Given the description of an element on the screen output the (x, y) to click on. 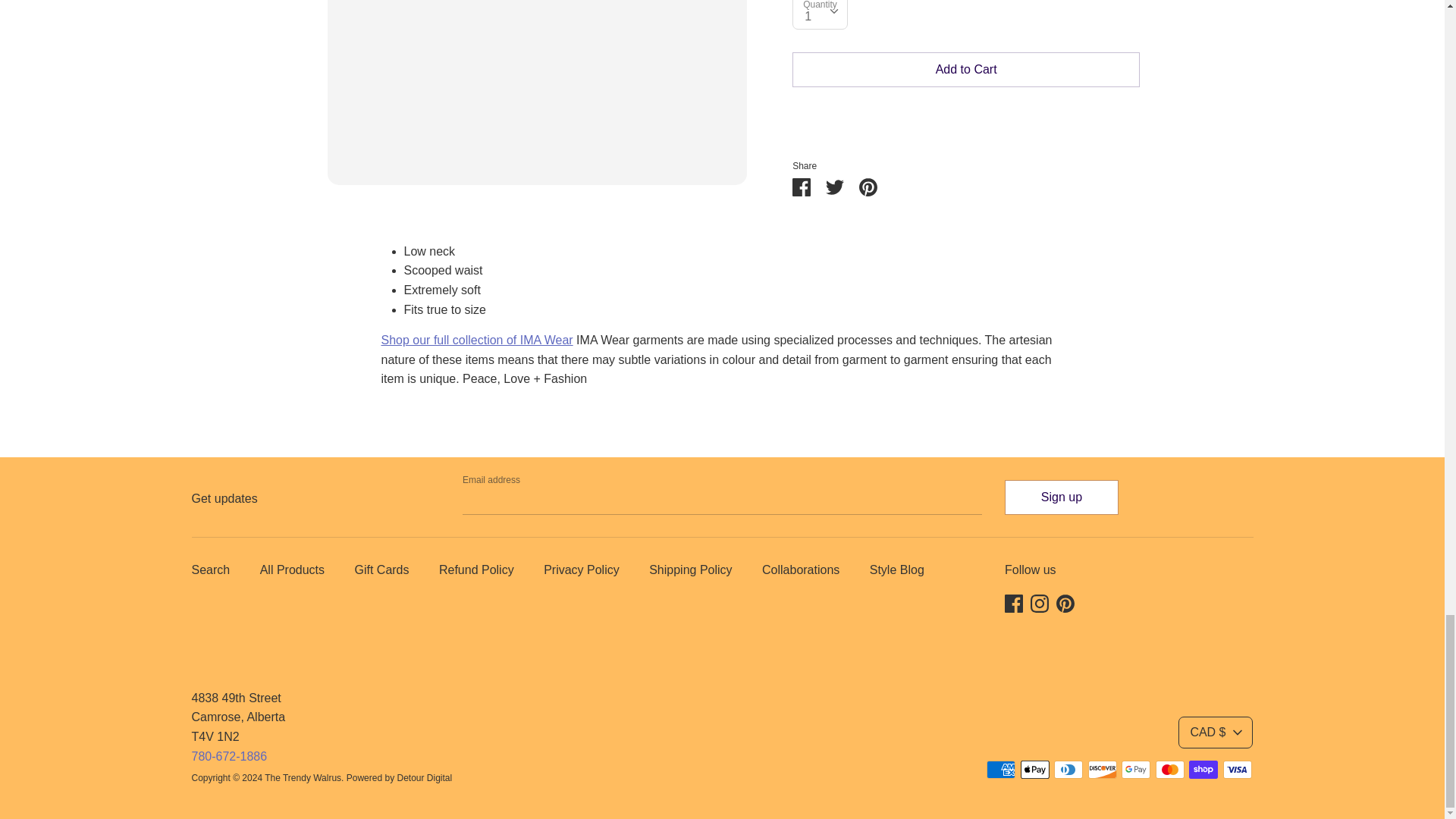
Apple Pay (1034, 769)
American Express (1000, 769)
Diners Club (1068, 769)
